Given the description of an element on the screen output the (x, y) to click on. 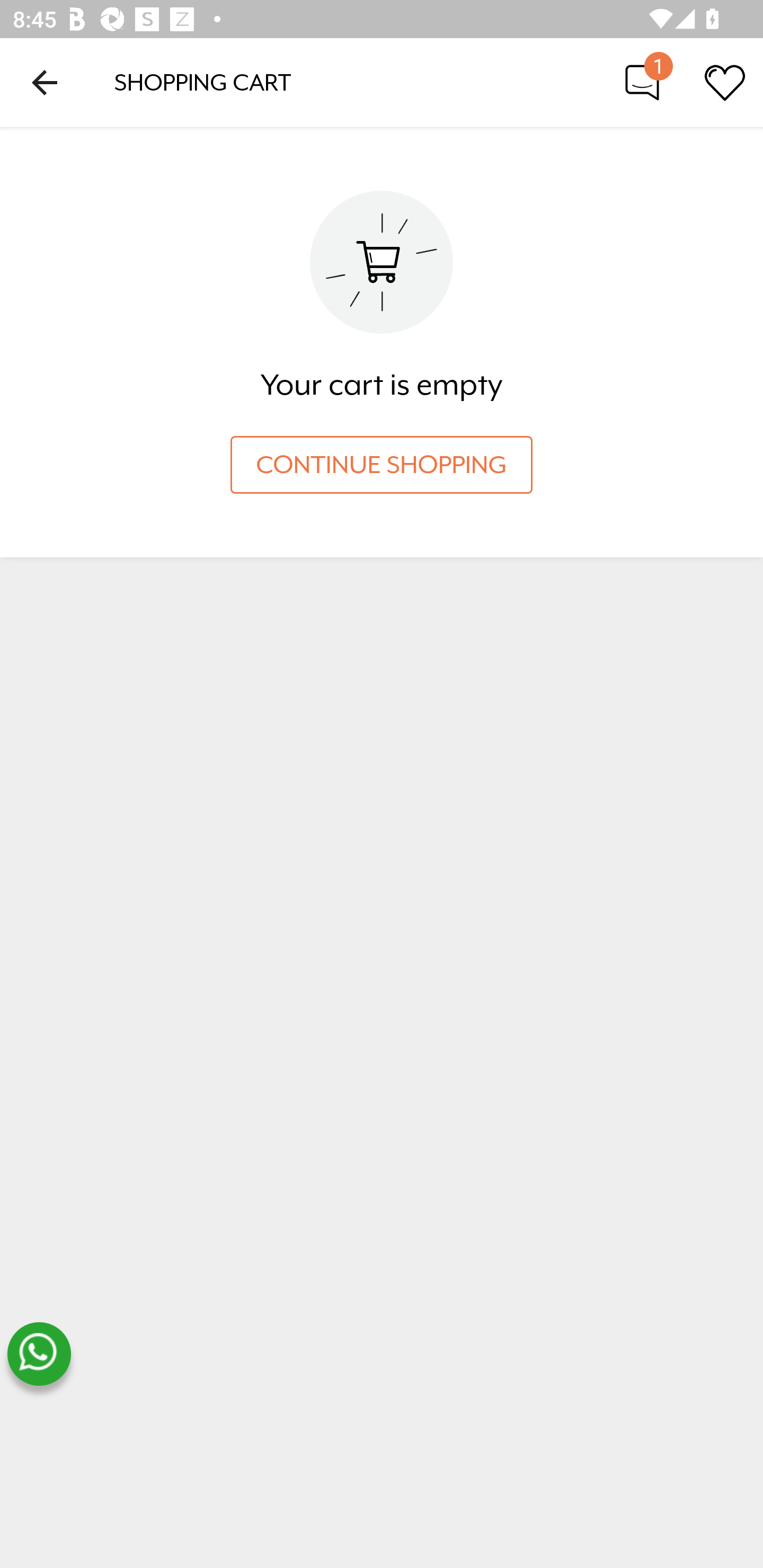
Navigate up (44, 82)
Chat (641, 81)
Wishlist (724, 81)
CONTINUE SHOPPING (381, 464)
whatsapp (38, 1353)
